Given the description of an element on the screen output the (x, y) to click on. 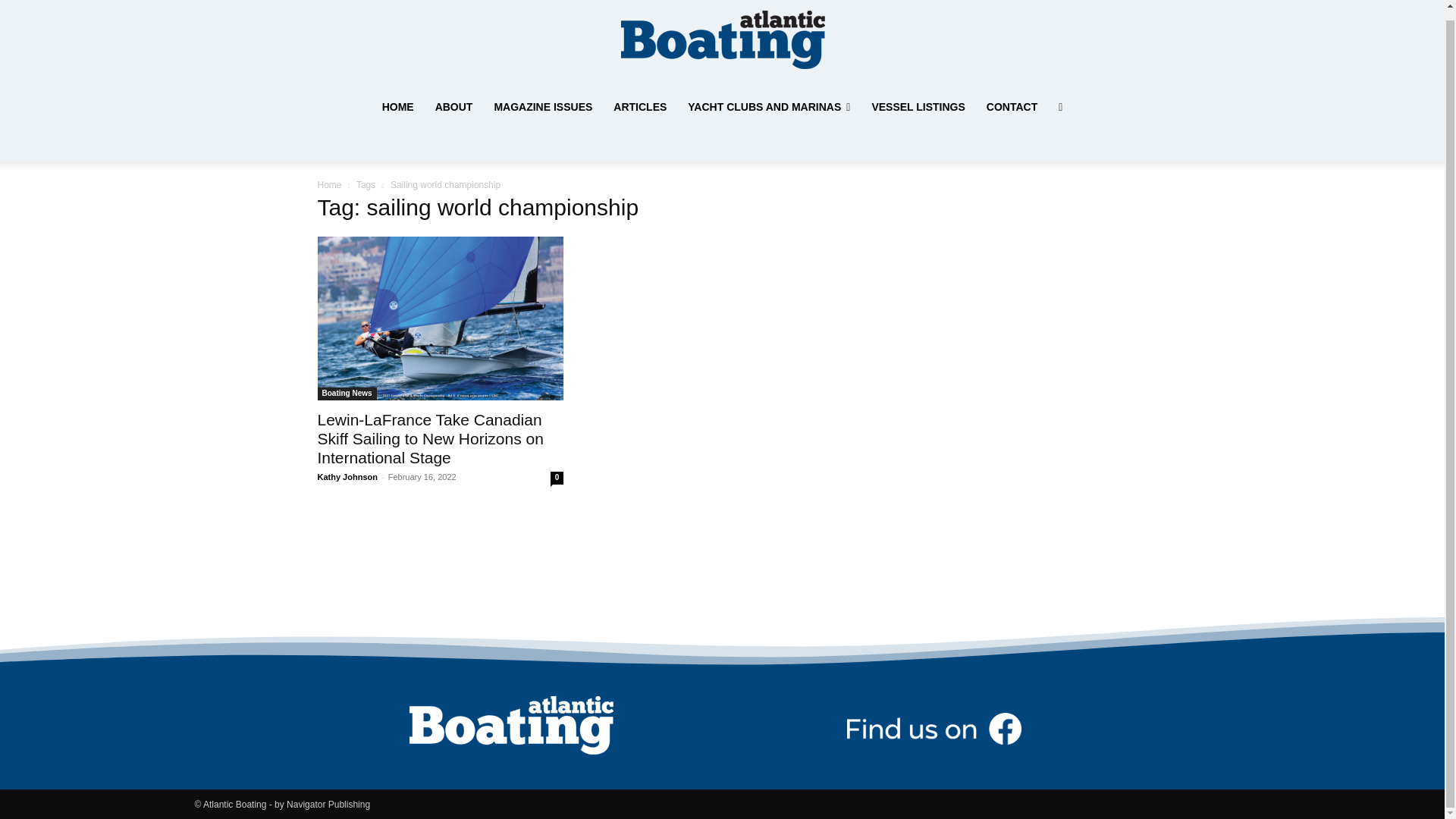
HOME (398, 106)
YACHT CLUBS AND MARINAS (768, 106)
ABOUT (454, 106)
Home (328, 184)
MAGAZINE ISSUES (542, 106)
VESSEL LISTINGS (917, 106)
CONTACT (1011, 106)
Boating News (346, 393)
Kathy Johnson (347, 476)
